Given the description of an element on the screen output the (x, y) to click on. 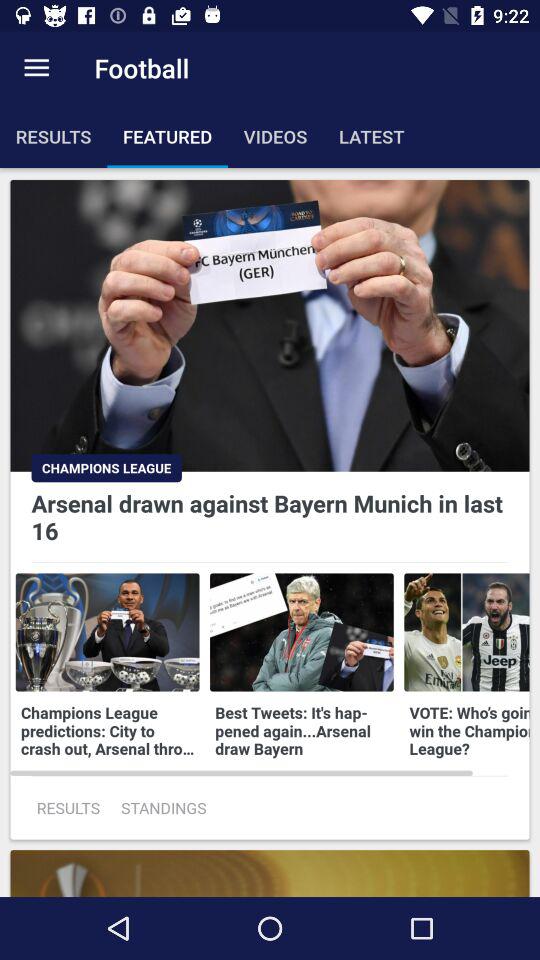
turn on icon next to the football item (36, 68)
